Given the description of an element on the screen output the (x, y) to click on. 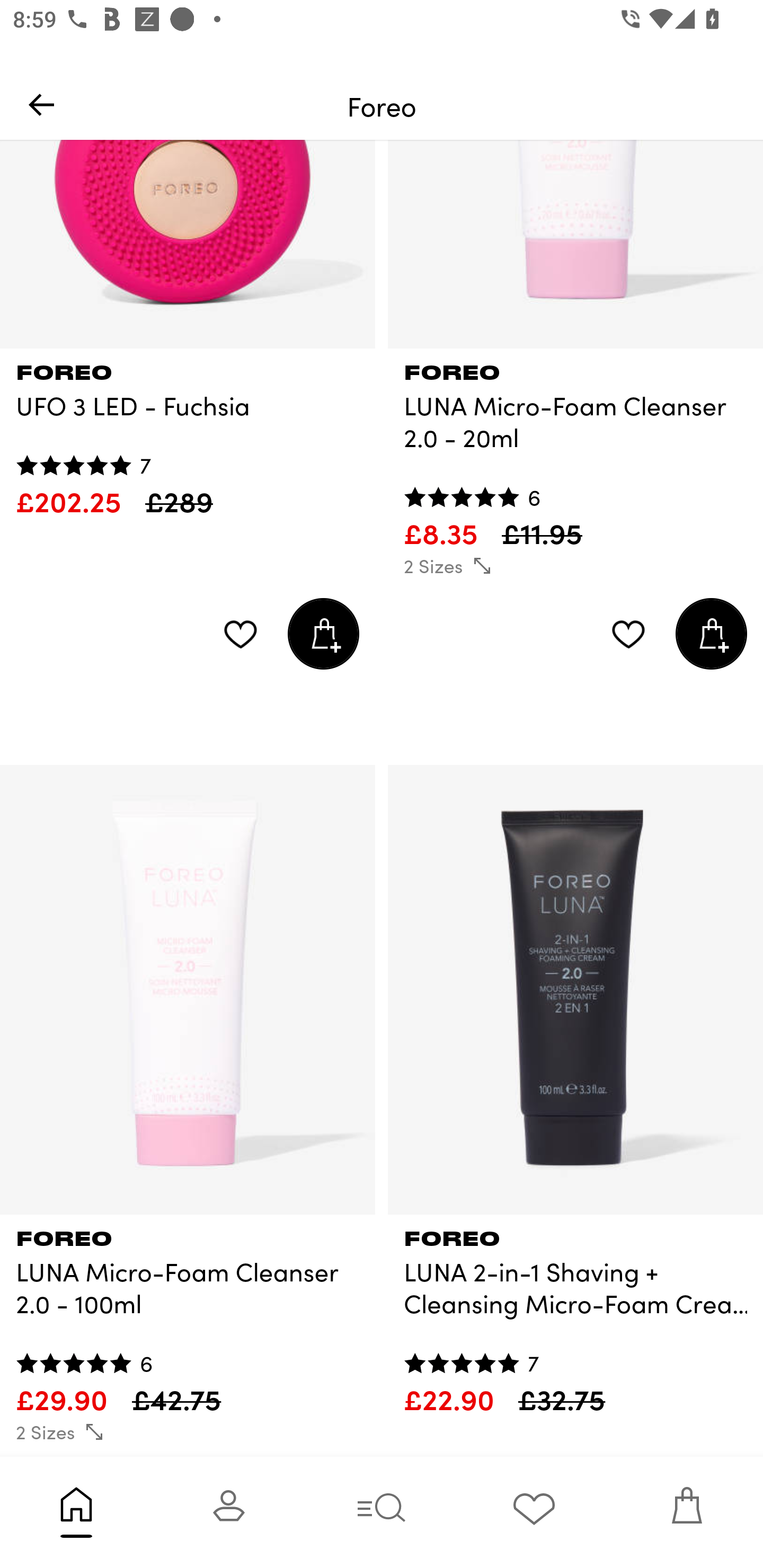
FOREO UFO 3 LED - Fuchsia 7 £202.25 £289 (187, 434)
